Given the description of an element on the screen output the (x, y) to click on. 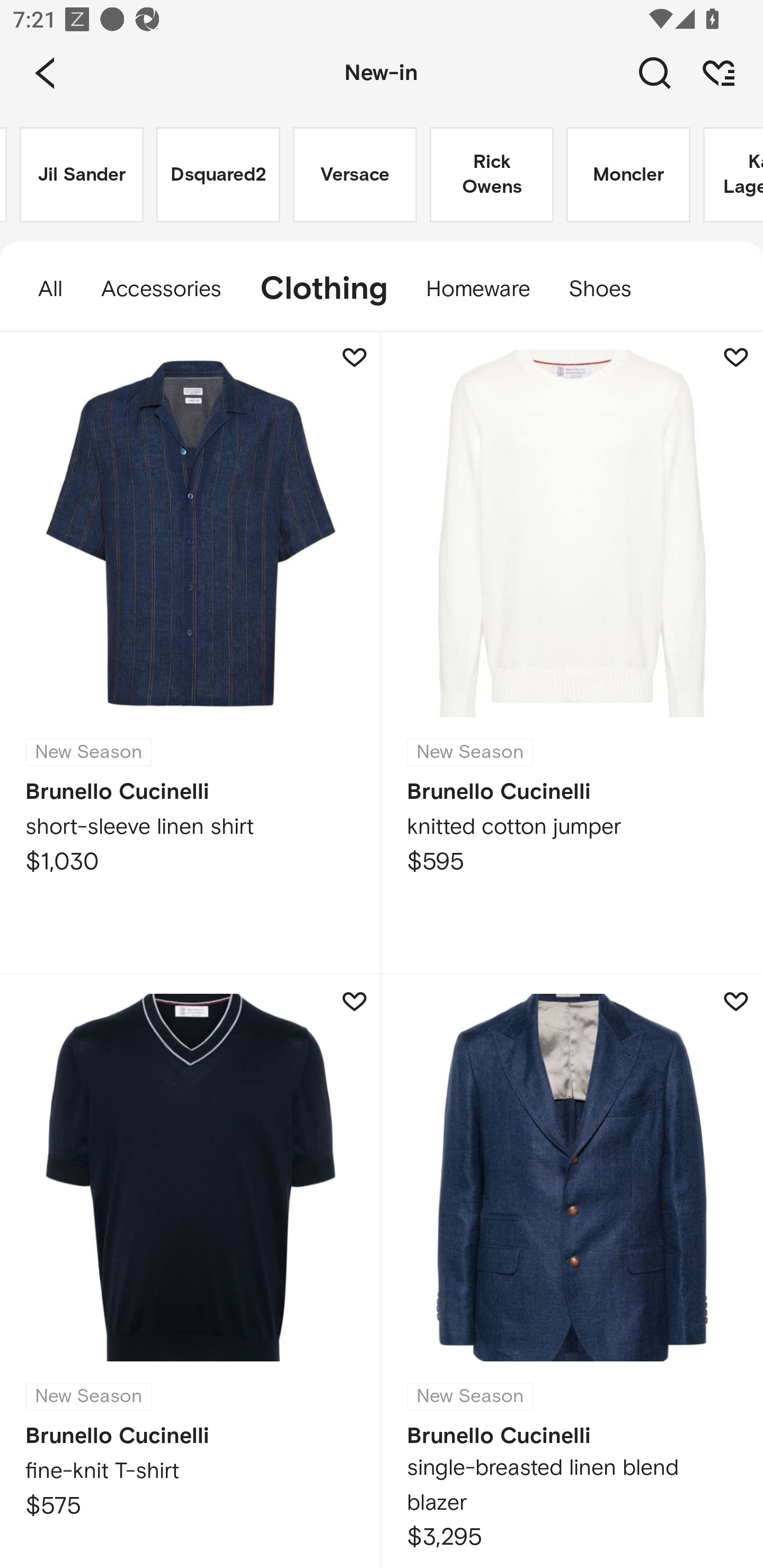
Jil Sander (81, 174)
Dsquared2 (218, 174)
Versace (354, 174)
Rick Owens (491, 174)
Moncler (628, 174)
All (40, 288)
Accessories (160, 288)
Clothing (323, 288)
Homeware (477, 288)
Shoes (609, 288)
